Given the description of an element on the screen output the (x, y) to click on. 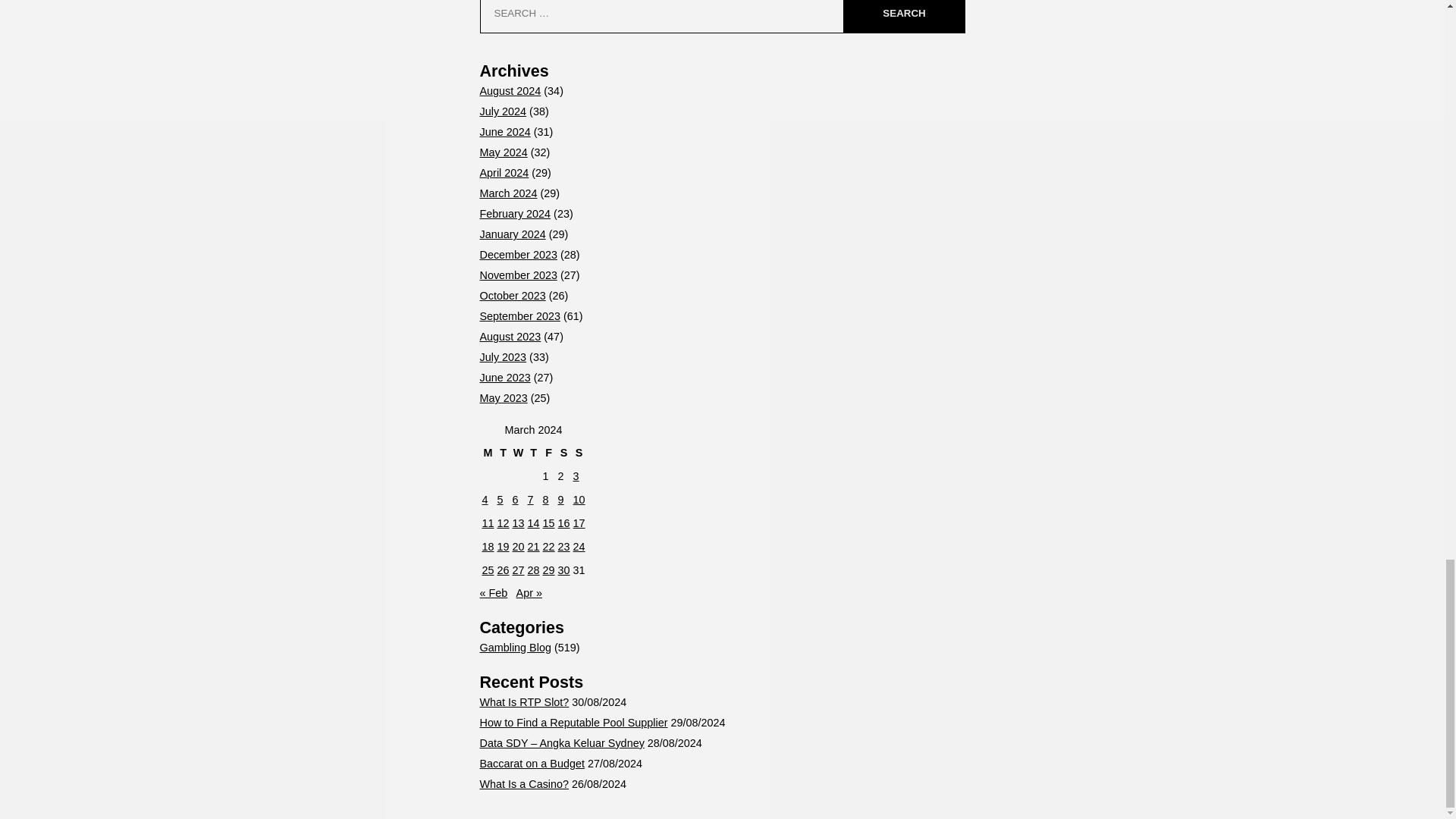
May 2024 (503, 152)
July 2024 (502, 111)
August 2024 (509, 91)
10 (579, 499)
January 2024 (511, 234)
Search (903, 16)
February 2024 (514, 214)
June 2023 (504, 377)
March 2024 (508, 193)
December 2023 (517, 254)
